Given the description of an element on the screen output the (x, y) to click on. 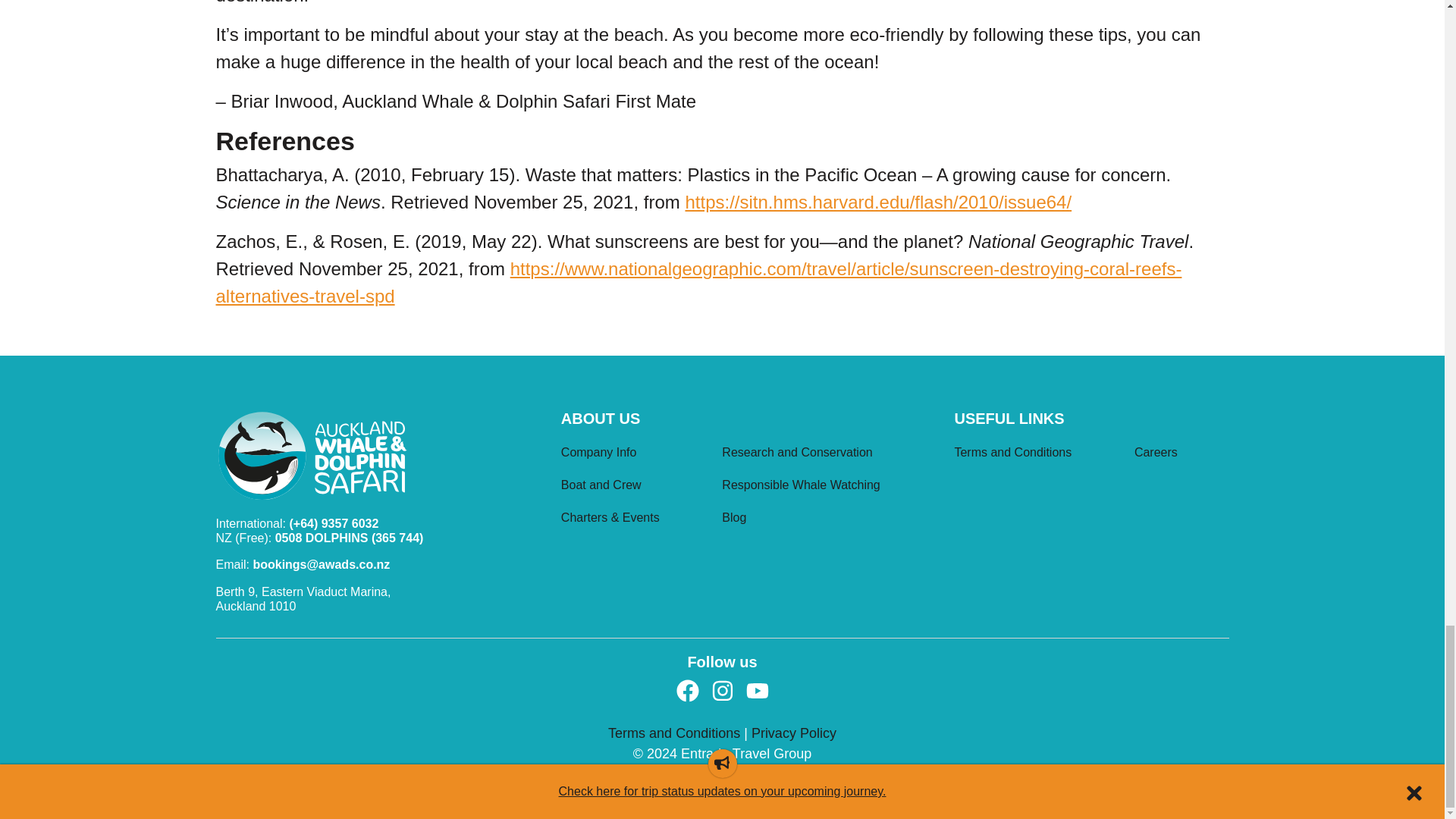
Terms and Conditions (676, 733)
Blog (826, 519)
Boat and Crew (635, 486)
Careers (1181, 454)
Research and Conservation (826, 454)
Responsible Whale Watching (826, 486)
Privacy Policy (793, 733)
Company Info (635, 454)
Terms and Conditions (1037, 454)
